Given the description of an element on the screen output the (x, y) to click on. 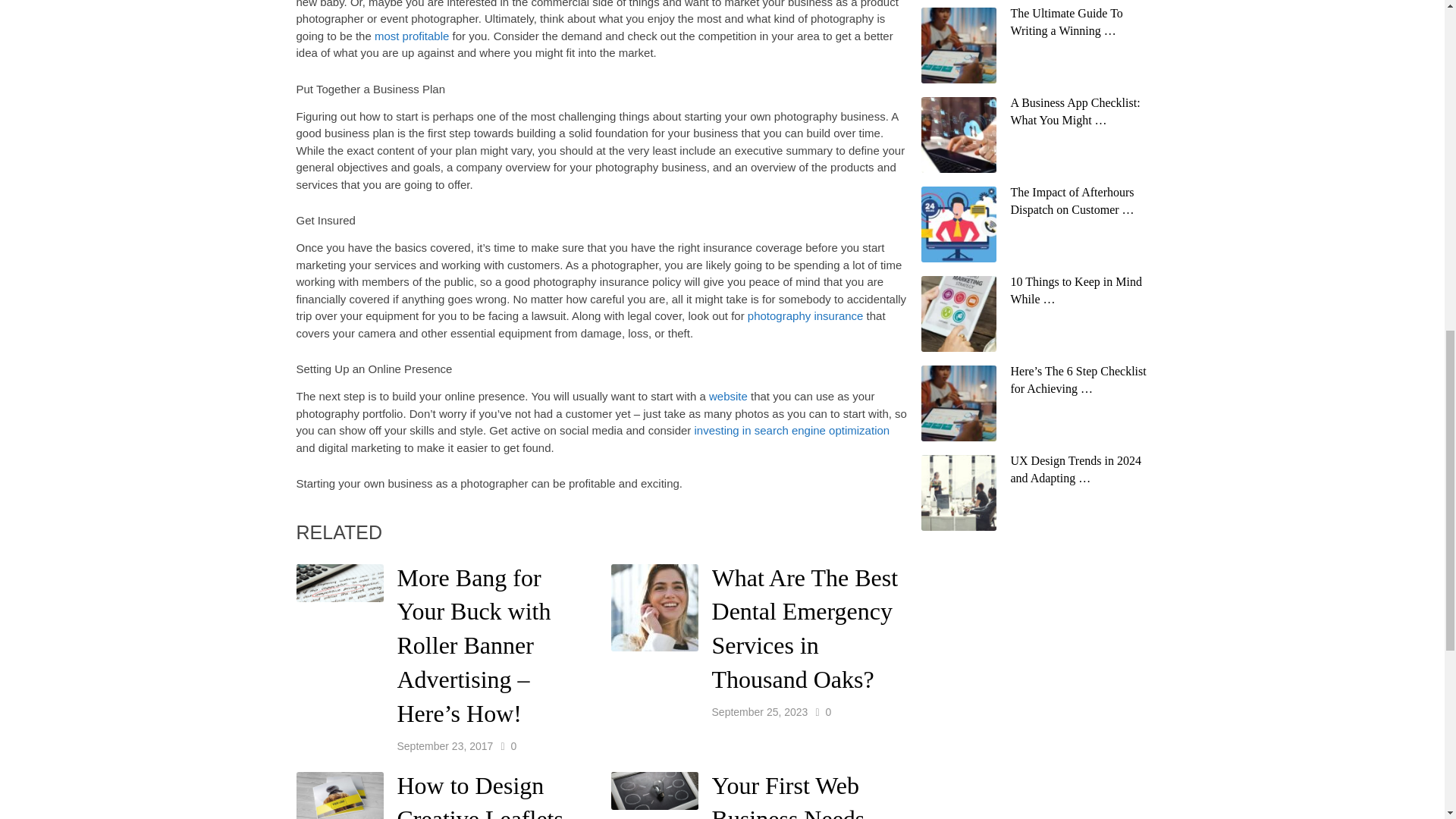
most profitable (411, 35)
investing in search engine optimization (791, 430)
How to Design Creative Leaflets (480, 795)
photography insurance (805, 315)
website (728, 395)
Your First Web Business Needs These 6 Things (787, 795)
0 (828, 712)
